Given the description of an element on the screen output the (x, y) to click on. 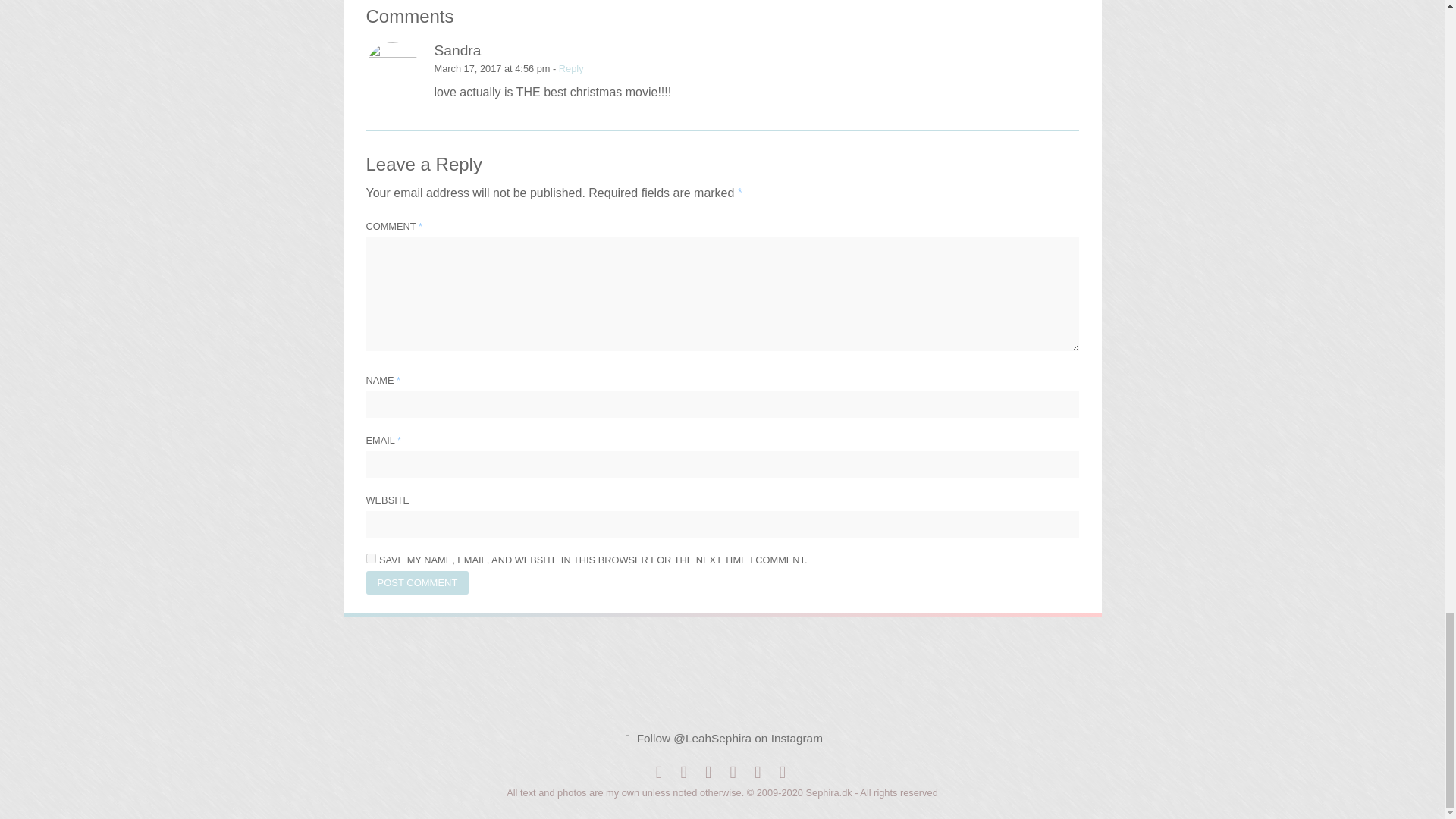
Twitter (683, 772)
Instagram (707, 772)
Post Comment (416, 582)
Facebook (658, 772)
yes (370, 558)
RSS (782, 772)
E-Mail (757, 772)
Bloglovin (732, 772)
